Given the description of an element on the screen output the (x, y) to click on. 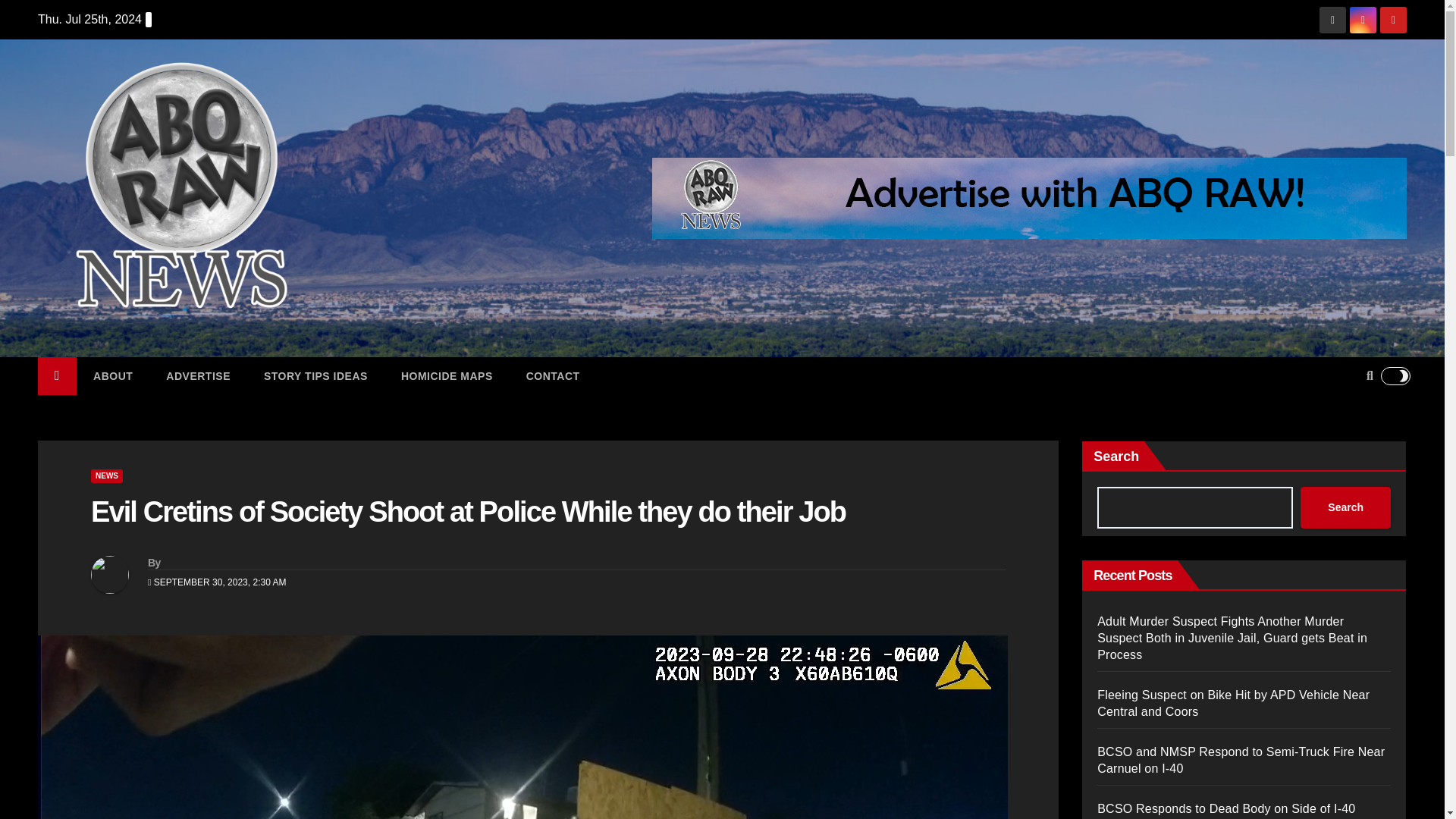
ABOUT (113, 375)
NEWS (106, 476)
Contact (552, 375)
Story Tips Ideas (315, 375)
Advertise (198, 375)
STORY TIPS IDEAS (315, 375)
Homicide Maps (446, 375)
HOMICIDE MAPS (446, 375)
Home (57, 375)
About (113, 375)
ADVERTISE (198, 375)
CONTACT (552, 375)
